Given the description of an element on the screen output the (x, y) to click on. 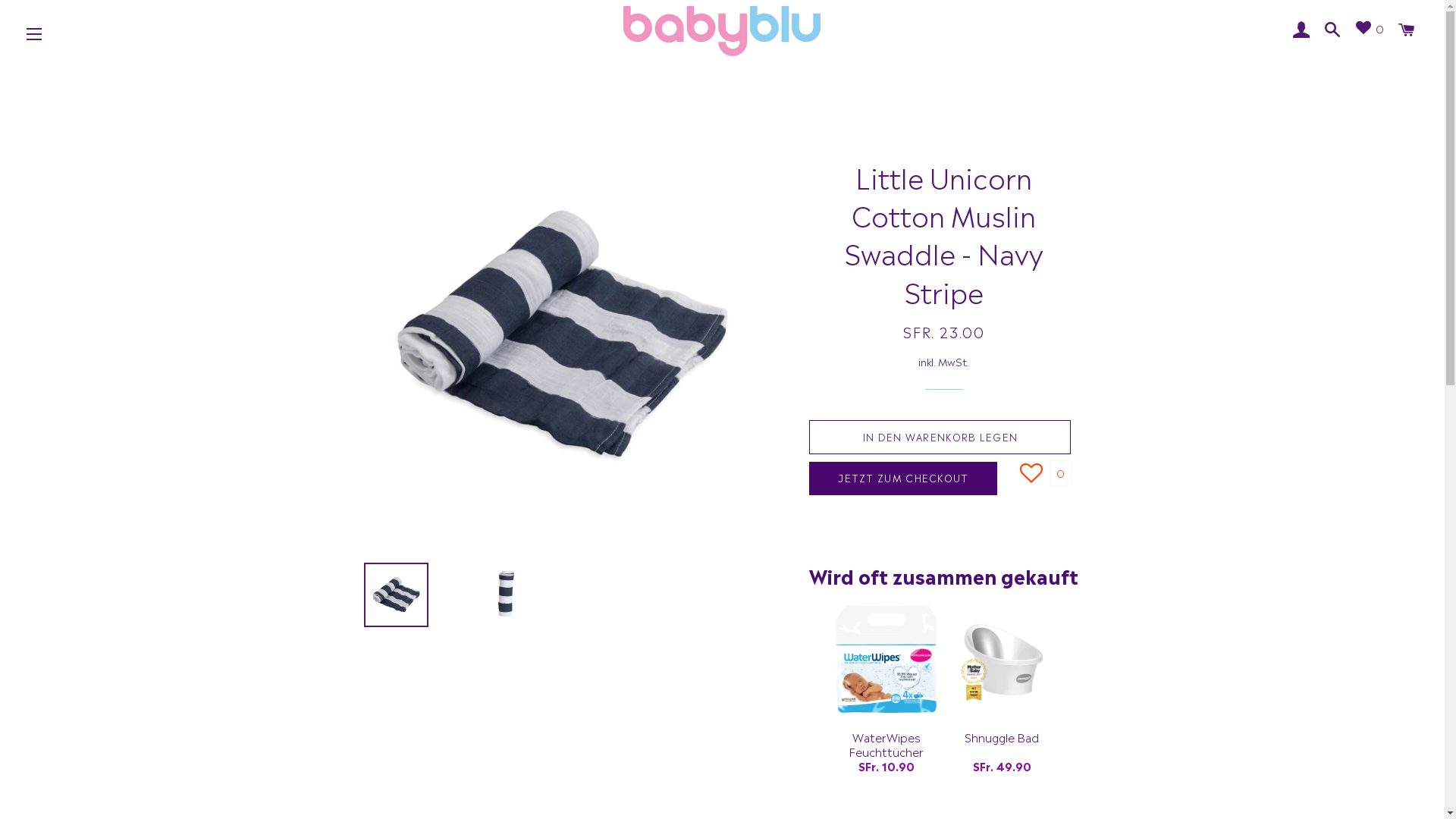
WARENKORB Element type: text (1407, 27)
SUCHE Element type: text (1332, 27)
Shnuggle Bad Element type: text (1001, 744)
EINLOGGEN Element type: text (1301, 27)
0 Element type: text (1369, 28)
IN DEN WARENKORB LEGEN Element type: text (939, 436)
JETZT ZUM CHECKOUT Element type: text (903, 478)
SEITENNAVIGATION Element type: text (34, 34)
